Given the description of an element on the screen output the (x, y) to click on. 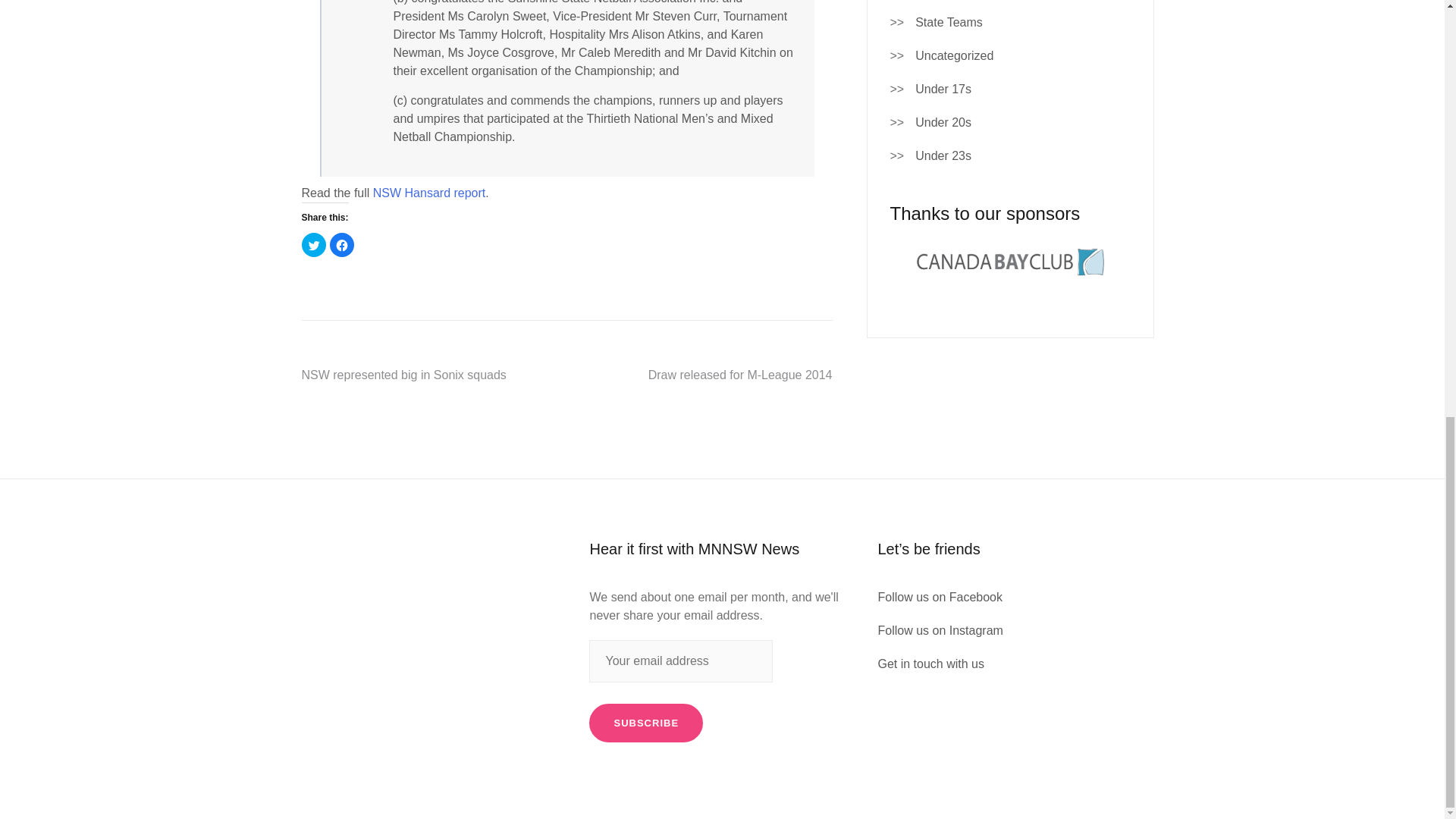
Click to share on Facebook (341, 244)
NSW Hansard report (429, 192)
Draw released for M-League 2014 (739, 374)
Subscribe (646, 722)
Click to share on Twitter (313, 244)
Canada Bay Club Logo (1009, 261)
NSW represented big in Sonix squads (403, 374)
